Given the description of an element on the screen output the (x, y) to click on. 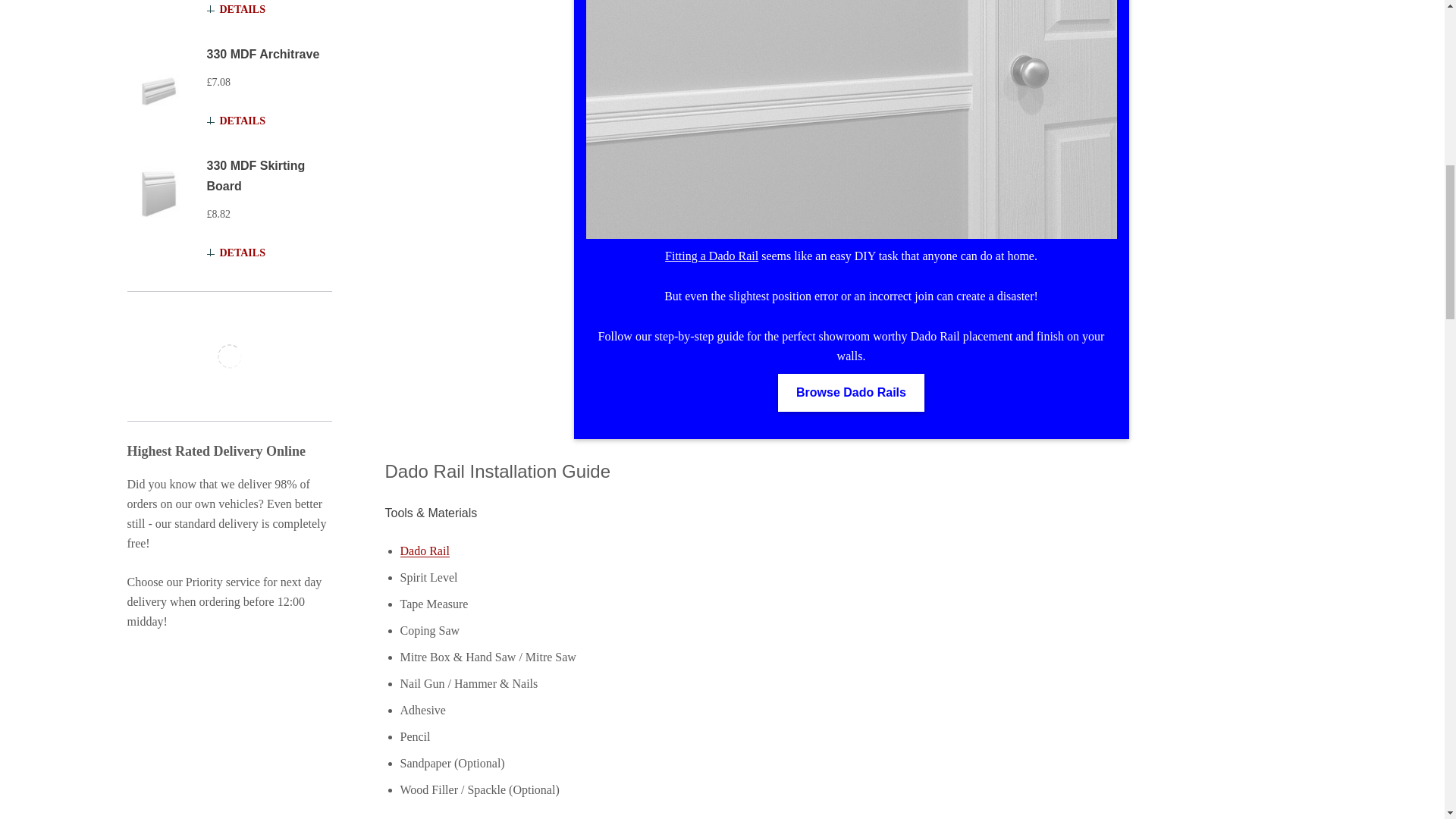
330 MDF Skirting Board in 145mm x 18mm HDF (160, 190)
Skirting World 330 MDF Architrave (160, 78)
324 MDF Dado Rail (850, 119)
